Given the description of an element on the screen output the (x, y) to click on. 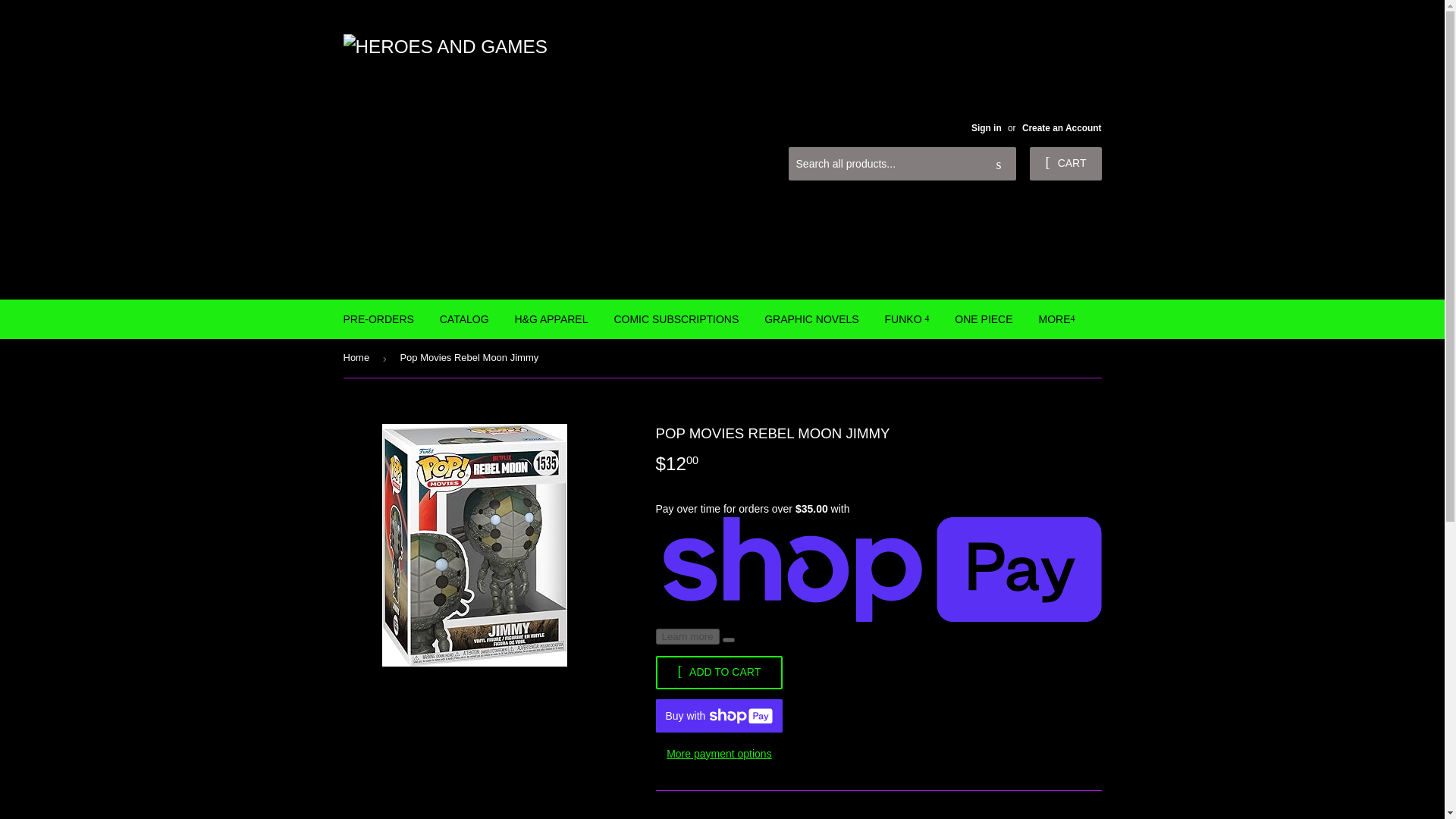
ONE PIECE (983, 319)
COMIC SUBSCRIPTIONS (675, 319)
GRAPHIC NOVELS (810, 319)
MORE (1056, 319)
Search (998, 164)
FUNKO (906, 319)
CATALOG (464, 319)
CART (1064, 163)
Create an Account (1062, 127)
Sign in (986, 127)
